Given the description of an element on the screen output the (x, y) to click on. 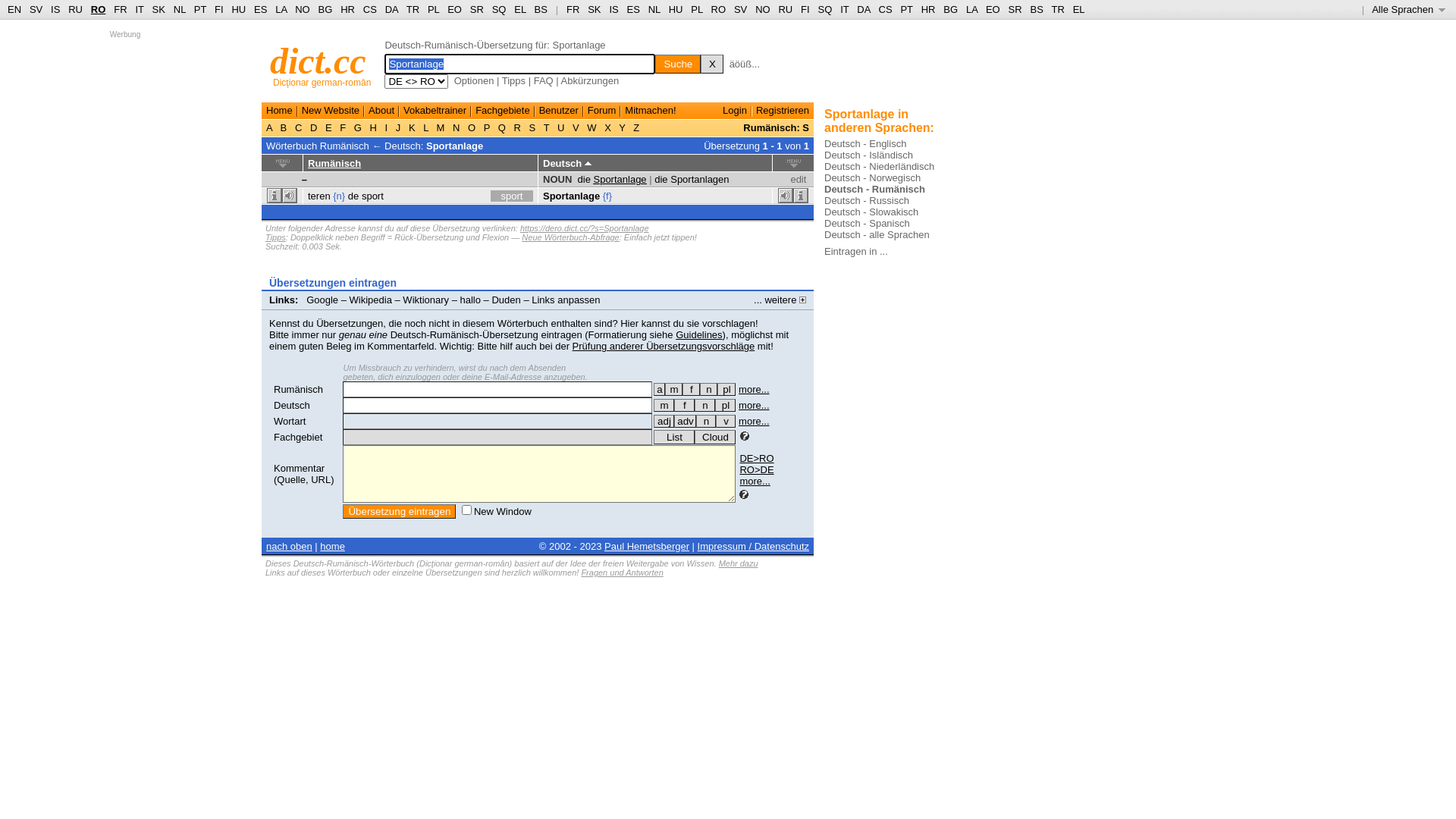
SK Element type: text (593, 9)
SV Element type: text (740, 9)
more... Element type: text (753, 405)
home Element type: text (332, 546)
NO Element type: text (762, 9)
n Element type: text (704, 404)
sport Element type: text (511, 194)
Guidelines Element type: text (698, 334)
Y Element type: text (621, 127)
RU Element type: text (75, 9)
Benutzer Element type: text (558, 110)
EL Element type: text (519, 9)
more... Element type: text (753, 420)
PT Element type: text (906, 9)
BG Element type: text (950, 9)
hallo Element type: text (470, 299)
HR Element type: text (347, 9)
Links anpassen Element type: text (565, 299)
IT Element type: text (138, 9)
Fachgebiete Element type: text (502, 110)
R Element type: text (517, 127)
BS Element type: text (1035, 9)
CS Element type: text (369, 9)
Sportanlage Element type: text (454, 144)
IS Element type: text (54, 9)
SK Element type: text (158, 9)
die Sportanlagen Element type: text (691, 179)
Forum Element type: text (601, 110)
M Element type: text (440, 127)
LA Element type: text (280, 9)
DA Element type: text (391, 9)
IT Element type: text (844, 9)
https://dero.dict.cc/?s=Sportanlage Element type: text (584, 227)
U Element type: text (560, 127)
PL Element type: text (433, 9)
Deutsch - Russisch Element type: text (866, 200)
SR Element type: text (476, 9)
Vokabeltrainer Element type: text (434, 110)
Deutsch - Norwegisch Element type: text (872, 177)
Home Element type: text (279, 110)
Google Element type: text (322, 299)
masculin Element type: hover (673, 388)
RO Element type: text (98, 9)
Duden Element type: text (505, 299)
SR Element type: text (1015, 9)
FI Element type: text (218, 9)
Paul Hemetsberger Element type: text (646, 546)
SQ Element type: text (499, 9)
more... Element type: text (754, 480)
PL Element type: text (696, 9)
FR Element type: text (572, 9)
ES Element type: text (633, 9)
Optionen Element type: text (474, 80)
Mehr dazu Element type: text (738, 562)
S Element type: text (532, 127)
PT Element type: text (200, 9)
Mitmachen! Element type: text (649, 110)
a Element type: text (659, 388)
H Element type: text (373, 127)
SV Element type: text (35, 9)
Suche Element type: text (677, 63)
DA Element type: text (862, 9)
Sportanlage Element type: text (570, 194)
C Element type: text (297, 127)
ES Element type: text (260, 9)
L Element type: text (425, 127)
Deutsch - Spanisch Element type: text (867, 223)
Impressum / Datenschutz Element type: text (753, 546)
pl Element type: text (725, 404)
F Element type: text (342, 127)
TR Element type: text (412, 9)
FI Element type: text (804, 9)
Eintragen in ... Element type: text (856, 251)
Z Element type: text (636, 127)
die - weiblich (Femininum) Element type: hover (684, 404)
G Element type: text (357, 127)
Deutsch - Englisch Element type: text (865, 143)
adv Element type: text (685, 420)
neutru Element type: hover (708, 388)
v Element type: text (725, 420)
A Element type: text (270, 127)
BS Element type: text (540, 9)
HR Element type: text (928, 9)
pl Element type: text (726, 388)
List Element type: text (673, 436)
die - Mehrzahl (Plural) Element type: hover (725, 404)
EO Element type: text (454, 9)
O Element type: text (470, 127)
I Element type: text (386, 127)
n Element type: text (705, 420)
Cloud Element type: text (714, 436)
RO Element type: text (718, 9)
de Element type: text (353, 194)
Tipps Element type: text (275, 236)
f Element type: text (690, 388)
IS Element type: text (613, 9)
FR Element type: text (119, 9)
feminin Element type: hover (690, 388)
edit Element type: text (798, 179)
EN Element type: text (14, 9)
die Sportanlage Element type: text (611, 179)
... weitere Element type: text (779, 299)
TR Element type: text (1057, 9)
Alle Sprachen  Element type: text (1408, 9)
SQ Element type: text (824, 9)
New Website Element type: text (330, 110)
BG Element type: text (325, 9)
X Element type: text (608, 127)
n Element type: text (708, 388)
DE>RO Element type: text (756, 458)
NL Element type: text (179, 9)
plural Element type: hover (726, 388)
more... Element type: text (753, 389)
dict.cc Element type: text (317, 60)
sport Element type: text (372, 194)
NO Element type: text (302, 9)
FAQ Element type: text (543, 80)
Login Element type: text (734, 110)
B Element type: text (283, 127)
V Element type: text (575, 127)
About Element type: text (381, 110)
W Element type: text (591, 127)
NL Element type: text (654, 9)
EO Element type: text (992, 9)
f Element type: text (684, 404)
Wikipedia Element type: text (370, 299)
HU Element type: text (675, 9)
K Element type: text (411, 127)
RU Element type: text (785, 9)
T Element type: text (546, 127)
adj Element type: text (663, 420)
Wiktionary Element type: text (425, 299)
LA Element type: text (971, 9)
RO>DE Element type: text (756, 469)
X Element type: text (711, 63)
N Element type: text (455, 127)
D Element type: text (313, 127)
EL Element type: text (1079, 9)
J Element type: text (397, 127)
E Element type: text (328, 127)
m Element type: text (663, 404)
Fragen und Antworten Element type: text (621, 572)
Deutsch Element type: text (291, 405)
CS Element type: text (884, 9)
Deutsch - Slowakisch Element type: text (871, 211)
teren Element type: text (318, 194)
Q Element type: text (501, 127)
Tipps Element type: text (513, 80)
P Element type: text (486, 127)
nach oben Element type: text (289, 546)
HU Element type: text (238, 9)
m Element type: text (673, 388)
Registrieren Element type: text (782, 110)
Deutsch - alle Sprachen Element type: text (876, 234)
